Given the description of an element on the screen output the (x, y) to click on. 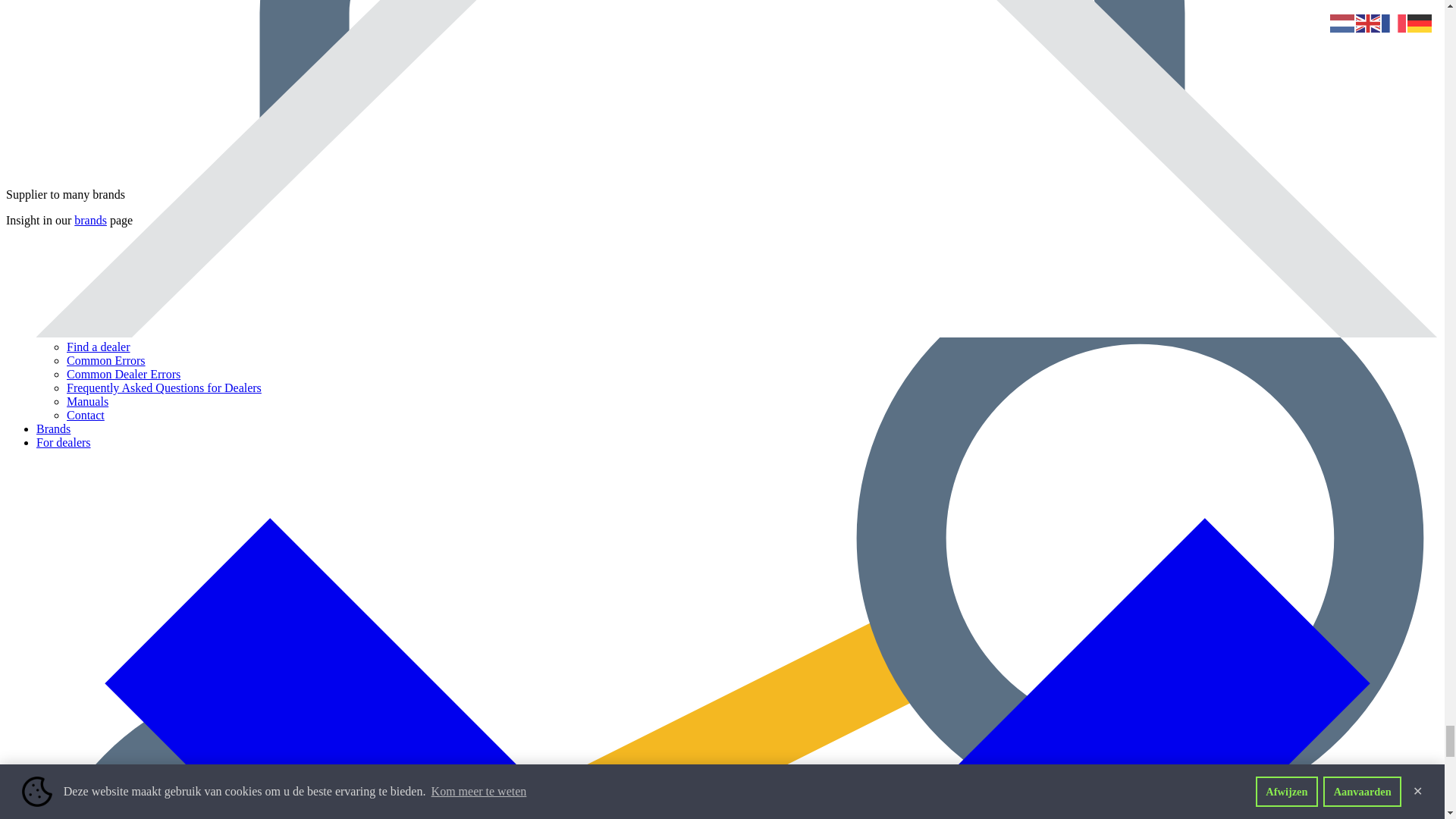
Brands (90, 219)
